Given the description of an element on the screen output the (x, y) to click on. 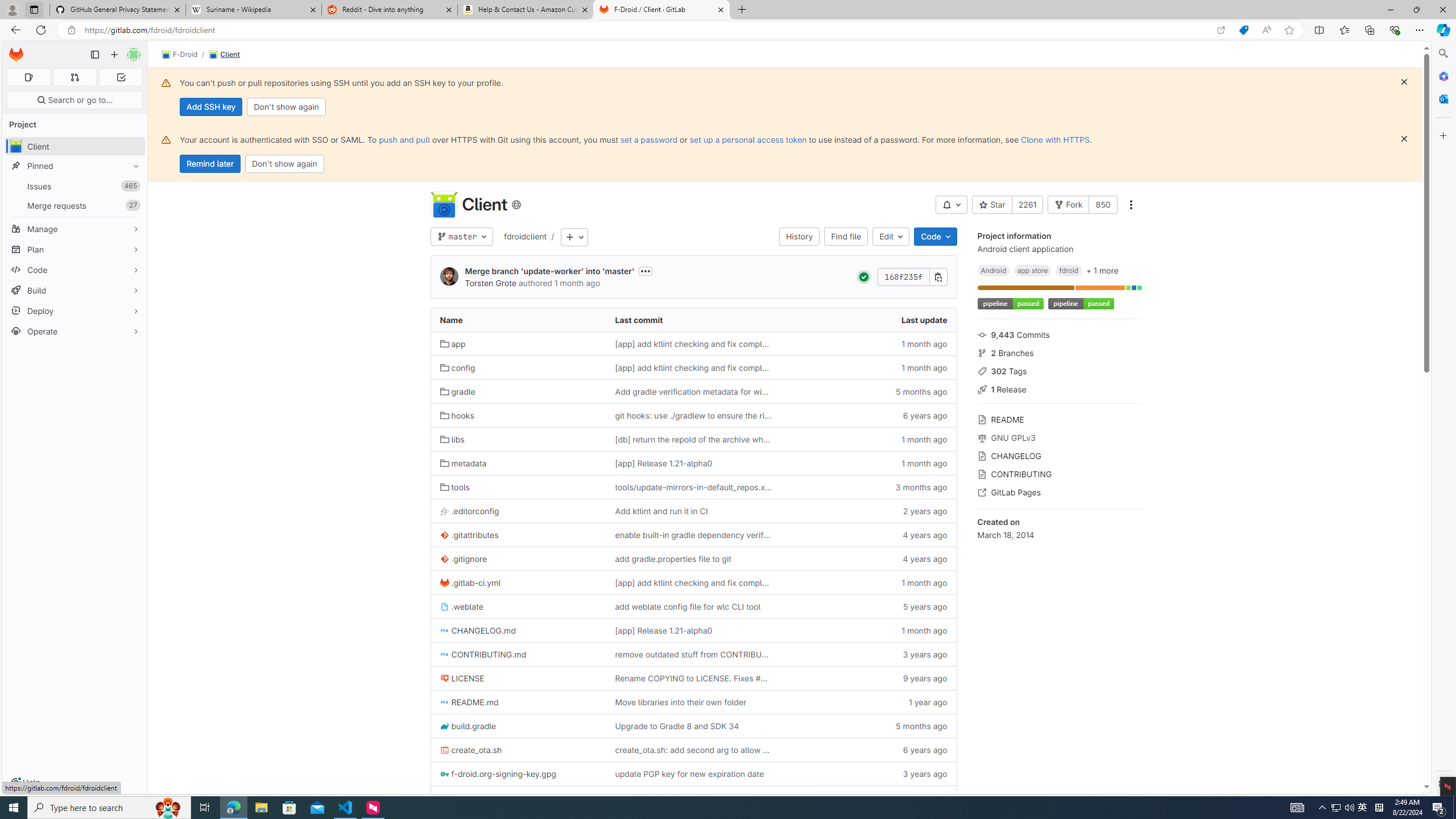
Create new... (113, 54)
push and pull (403, 139)
GitLab Pages (1058, 491)
9,443 Commits (1058, 333)
f-droid.org-signing-key.gpg (517, 773)
Don't show again (284, 163)
302 Tags (1058, 369)
Torsten Grote's avatar (448, 275)
Add to tree (574, 236)
.gitattributes (517, 534)
